Given the description of an element on the screen output the (x, y) to click on. 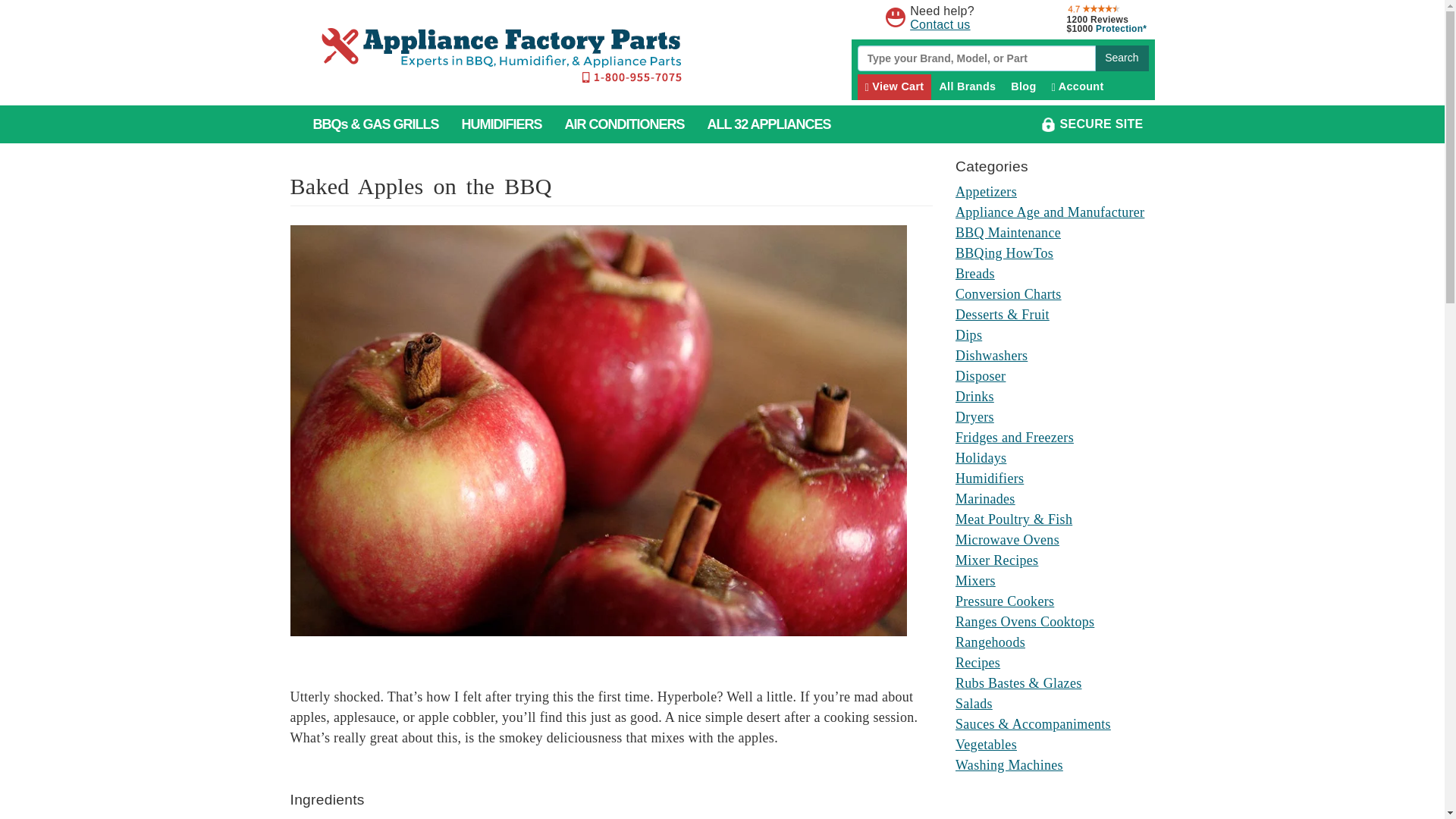
Account (1077, 86)
Dryers (974, 417)
Search (1121, 58)
Dishwashers (991, 355)
Blog (1023, 86)
Holidays (980, 458)
Conversion Charts (1008, 294)
HUMIDIFIERS (501, 124)
Humidifiers (989, 478)
Marinades (984, 498)
Appliance Age and Manufacturer (1049, 212)
View Cart (894, 86)
ALL 32 APPLIANCES (769, 124)
Drinks (974, 396)
BBQing HowTos (1003, 253)
